Given the description of an element on the screen output the (x, y) to click on. 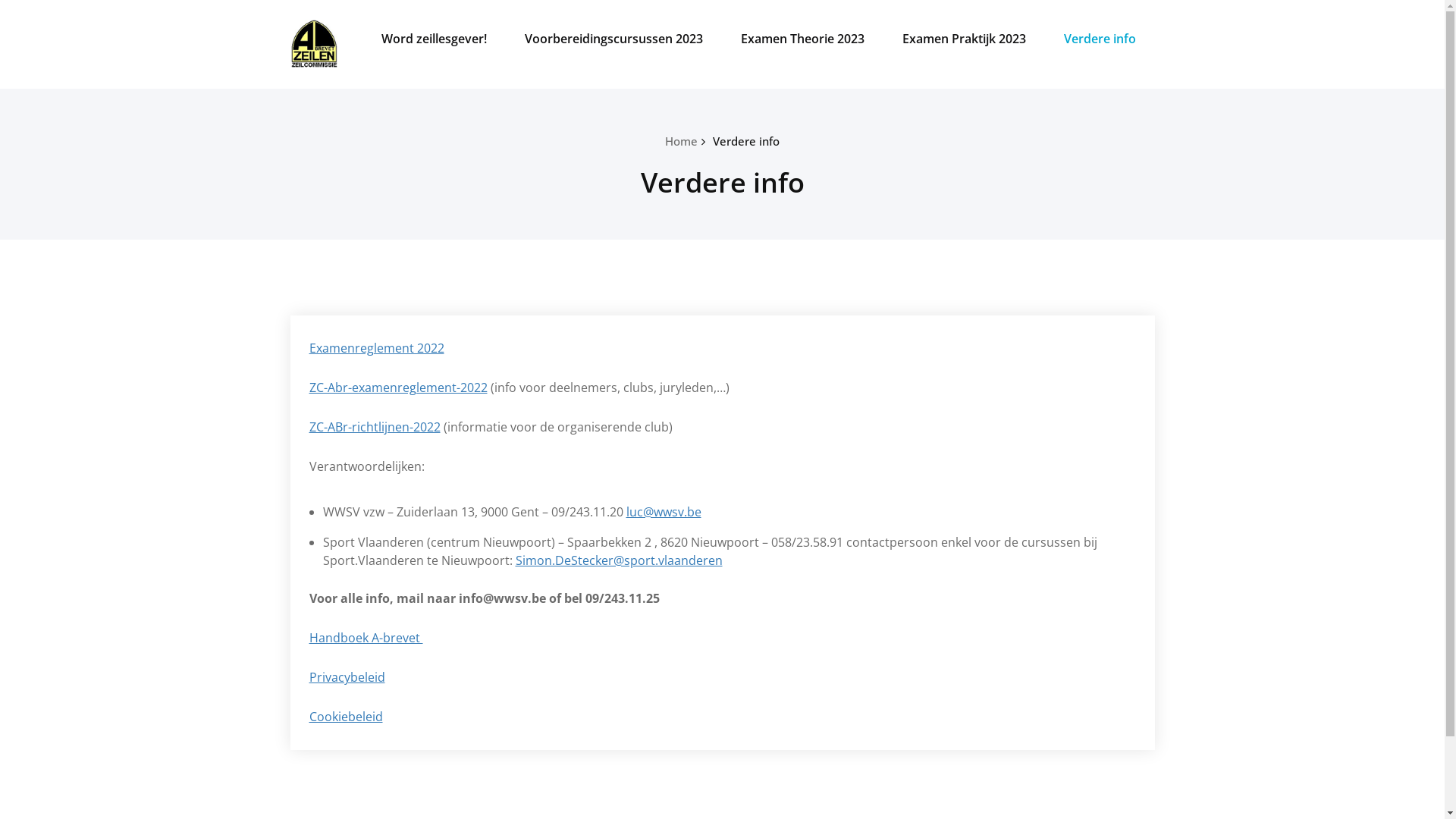
Cookiebeleid Element type: text (345, 716)
Verdere info Element type: text (745, 140)
Home Element type: text (681, 140)
ZC-Abr-examenreglement-2022 Element type: text (398, 387)
Verdere info Element type: text (1099, 38)
Voorbereidingscursussen 2023 Element type: text (612, 38)
Simon.DeStecker@sport.vlaanderen Element type: text (618, 560)
ZC-ABr-richtlijnen-2022 Element type: text (374, 426)
Examen Theorie 2023 Element type: text (802, 38)
Handboek A-brevet  Element type: text (366, 637)
Examen Praktijk 2023 Element type: text (963, 38)
luc@wwsv.be Element type: text (663, 511)
Privacybeleid Element type: text (347, 676)
Word zeillesgever! Element type: text (434, 38)
Examenreglement 2022 Element type: text (376, 347)
A-brevet Element type: text (348, 24)
